Given the description of an element on the screen output the (x, y) to click on. 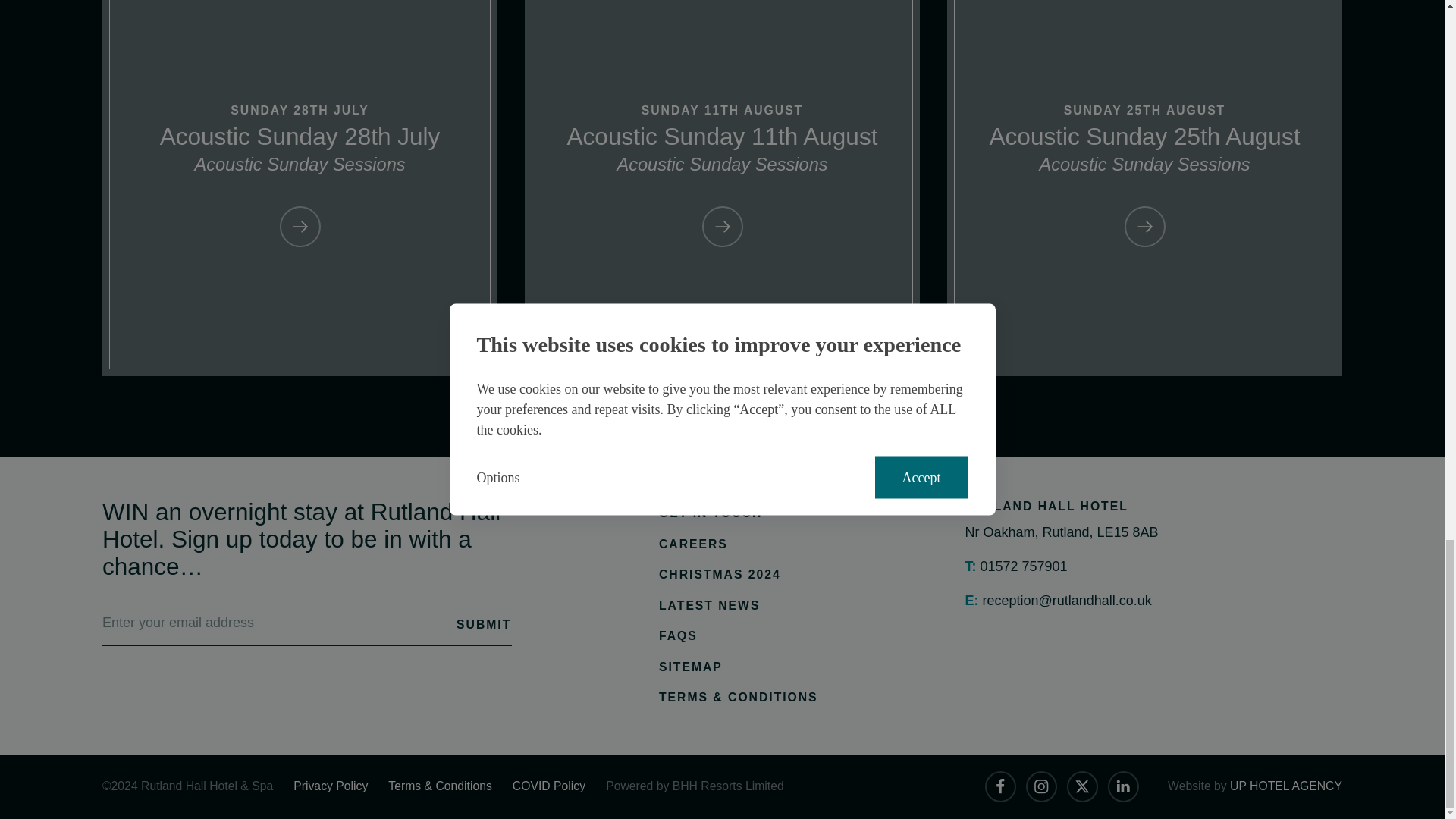
SITEMAP (738, 667)
GET IN TOUCH (738, 513)
FAQS (738, 636)
LATEST NEWS (738, 606)
SUBMIT (473, 622)
CHRISTMAS 2024 (738, 574)
CAREERS (738, 544)
